Given the description of an element on the screen output the (x, y) to click on. 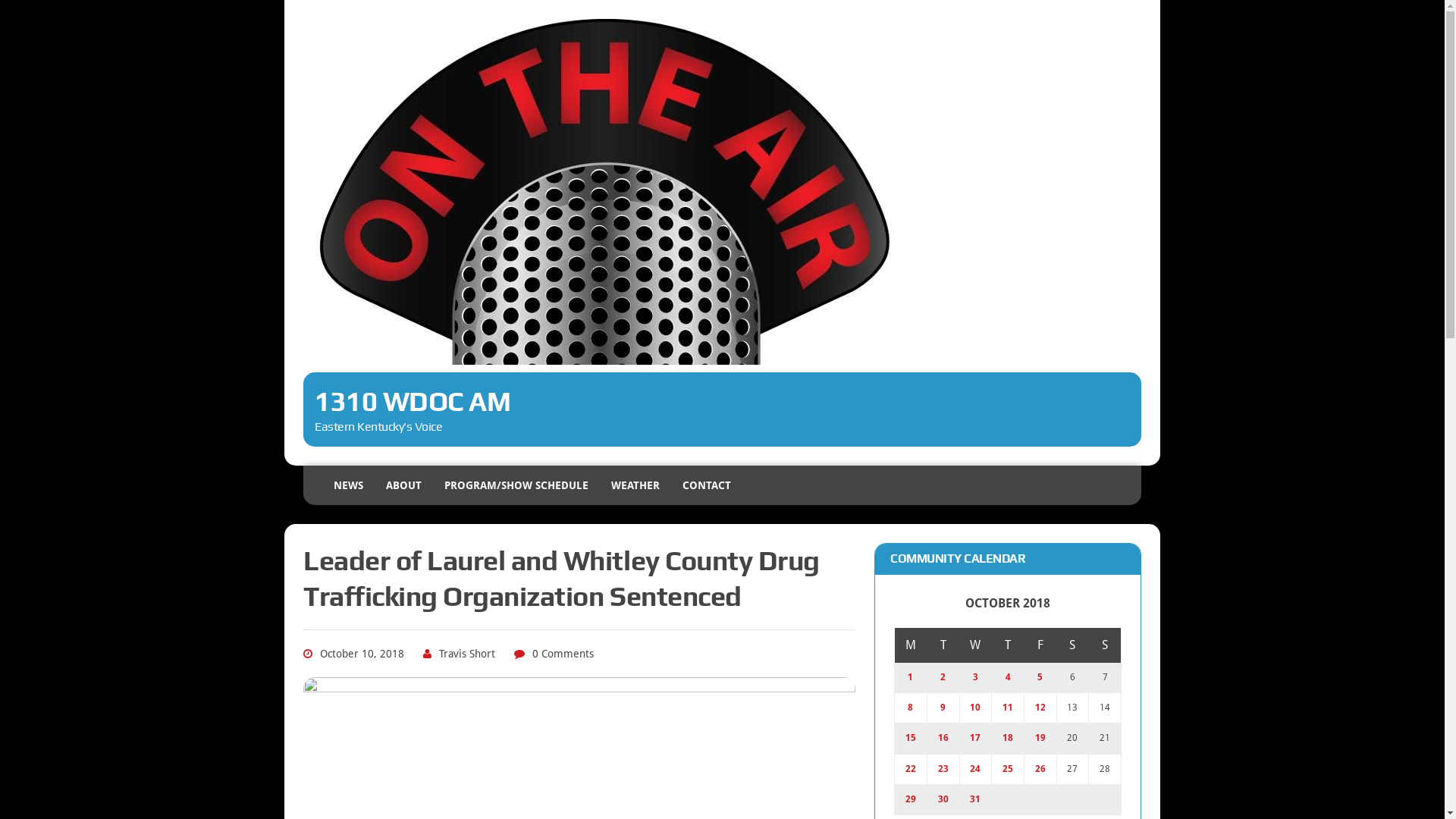
CONTACT Element type: text (706, 485)
17 Element type: text (974, 737)
15 Element type: text (910, 737)
11 Element type: text (1007, 707)
19 Element type: text (1040, 737)
31 Element type: text (974, 798)
1310 WDOC AM
Eastern Kentucky's Voice Element type: text (722, 232)
2 Element type: text (942, 676)
5 Element type: text (1039, 676)
3 Element type: text (975, 676)
9 Element type: text (942, 707)
4 Element type: text (1007, 676)
16 Element type: text (943, 737)
24 Element type: text (974, 768)
Travis Short Element type: text (467, 653)
25 Element type: text (1007, 768)
ABOUT Element type: text (403, 485)
8 Element type: text (910, 707)
12 Element type: text (1040, 707)
18 Element type: text (1007, 737)
WEATHER Element type: text (635, 485)
29 Element type: text (910, 798)
10 Element type: text (974, 707)
22 Element type: text (910, 768)
1 Element type: text (910, 676)
23 Element type: text (943, 768)
NEWS Element type: text (348, 485)
PROGRAM/SHOW SCHEDULE Element type: text (516, 485)
30 Element type: text (943, 798)
26 Element type: text (1040, 768)
